Given the description of an element on the screen output the (x, y) to click on. 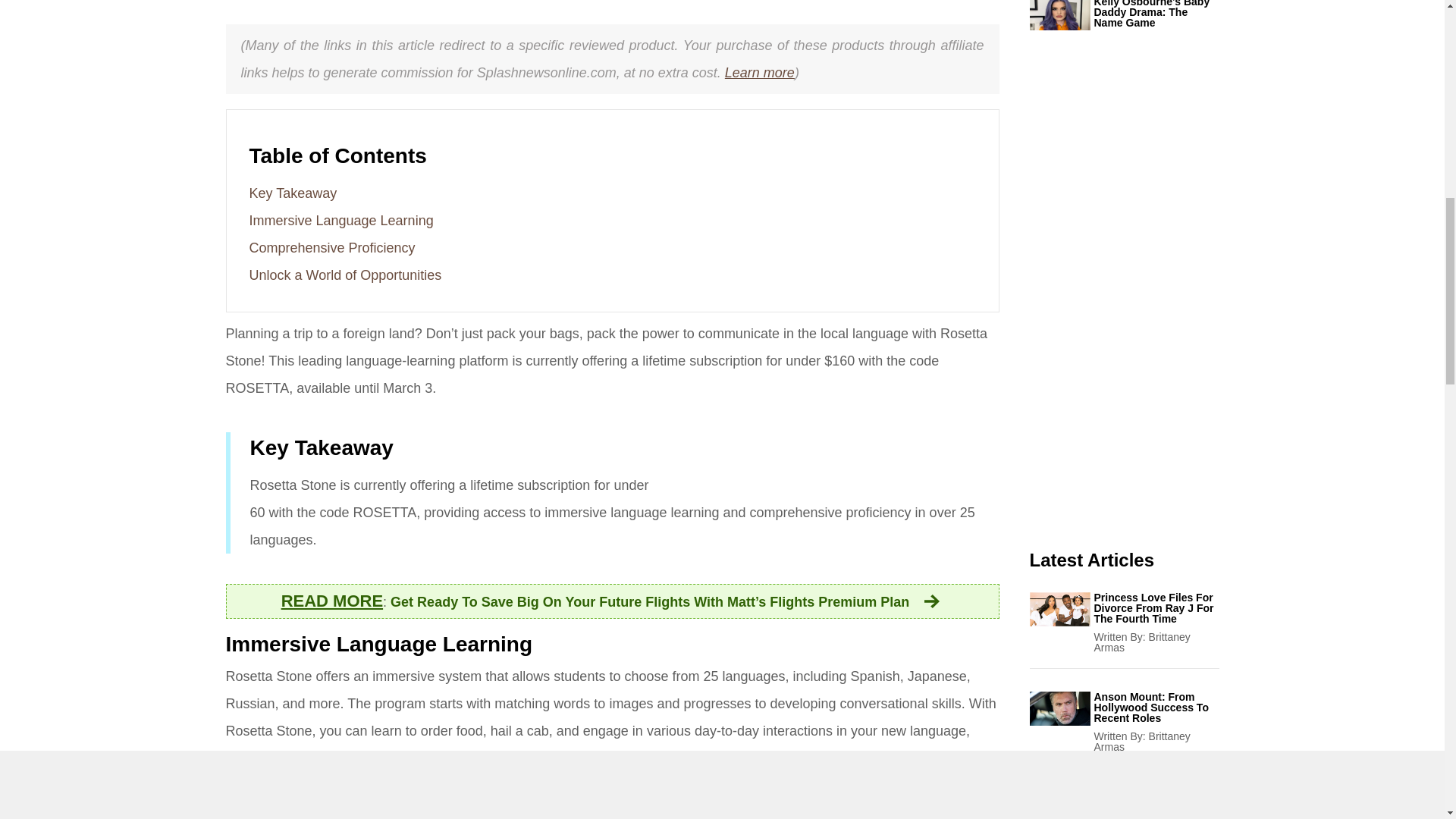
Immersive Language Learning (340, 220)
Unlock a World of Opportunities (344, 274)
Comprehensive Proficiency (331, 247)
Learn more (759, 72)
Anson Mount: From Hollywood Success To Recent Roles (1155, 707)
Kelly Osbourne's Baby Daddy Drama: The Name Game (1155, 13)
Key Takeaway (292, 192)
